Given the description of an element on the screen output the (x, y) to click on. 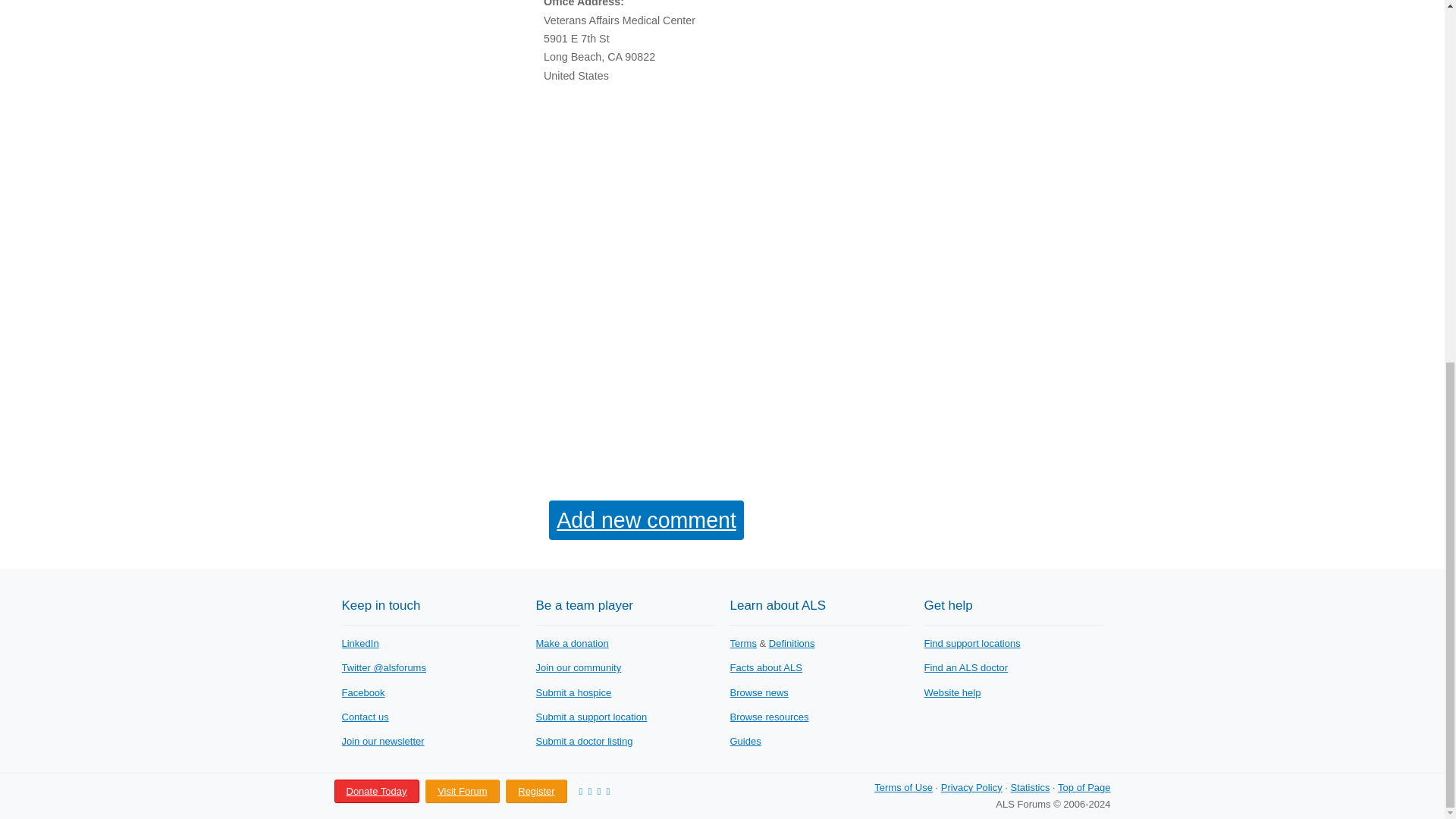
Our Facebook (362, 692)
Add new comment (646, 519)
Add a support location (590, 716)
Share your thoughts and opinions related to this posting. (646, 519)
Facebook (362, 692)
Our Twitter (382, 667)
Contact us (364, 716)
Add hospice (573, 692)
LinkedIn (359, 643)
Join our newsletter (381, 740)
